Given the description of an element on the screen output the (x, y) to click on. 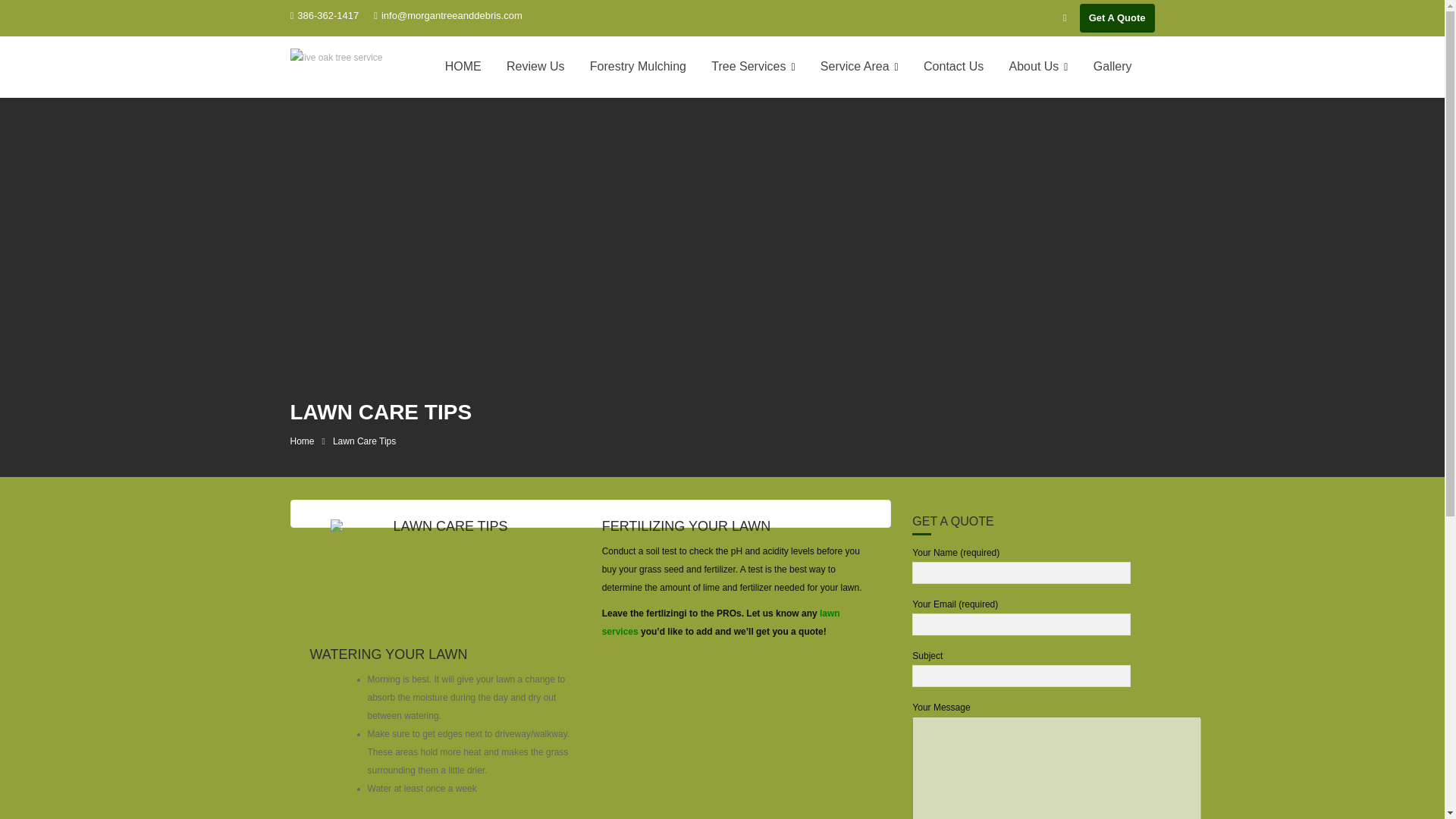
Forestry Mulching (637, 66)
Get A Quote (1117, 18)
Gallery (1111, 66)
About Us (1038, 66)
Home (301, 440)
Contact Us (953, 66)
lawn services (721, 622)
HOME (463, 66)
Tree Services (753, 66)
Facebook (1064, 17)
